Given the description of an element on the screen output the (x, y) to click on. 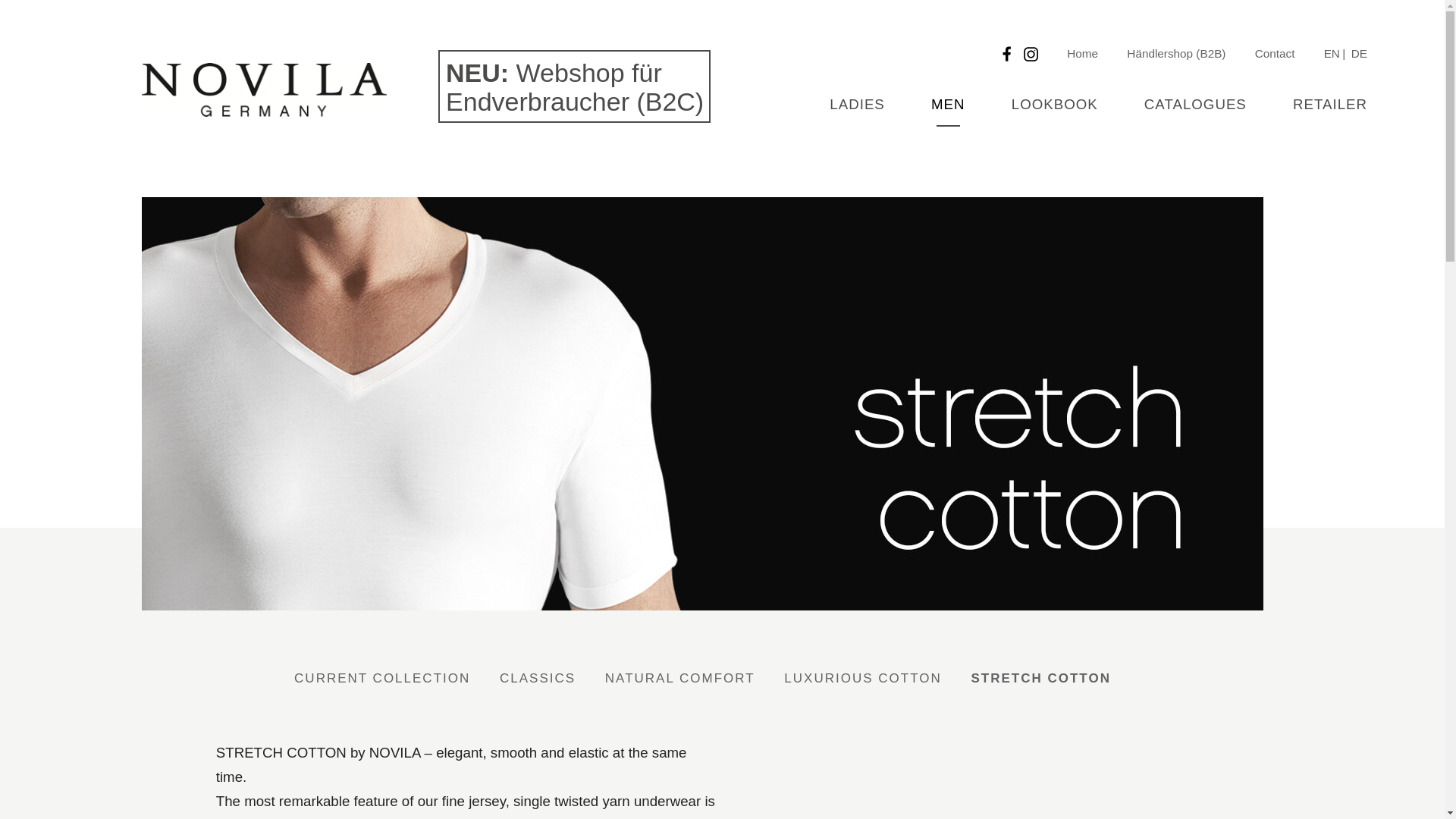
LADIES (856, 103)
LOOKBOOK (1054, 103)
RETAILER (1329, 103)
Contact (1275, 52)
Home (1082, 52)
CATALOGUES (1195, 103)
